Given the description of an element on the screen output the (x, y) to click on. 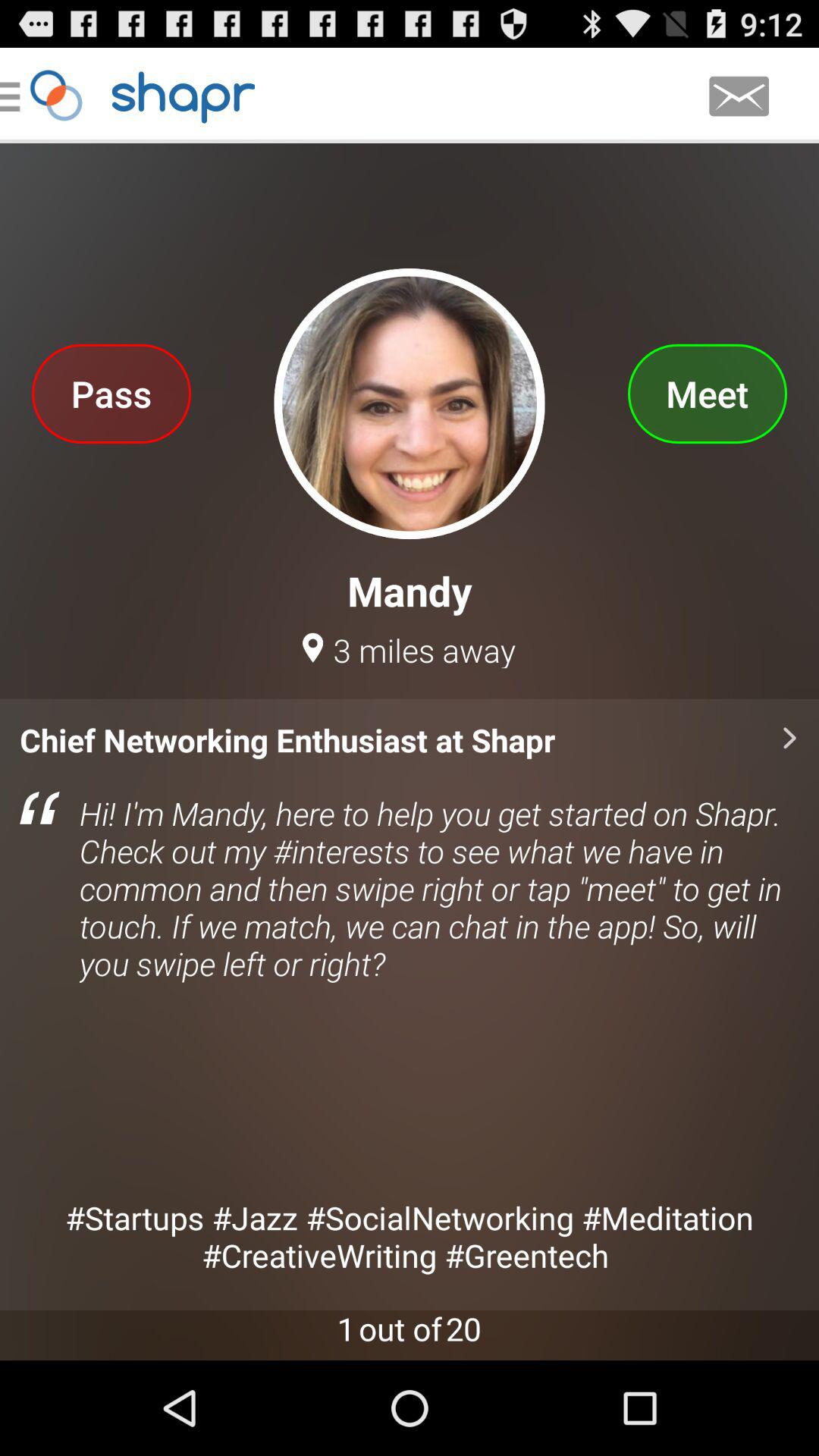
turn on the icon above the mandy icon (111, 393)
